Given the description of an element on the screen output the (x, y) to click on. 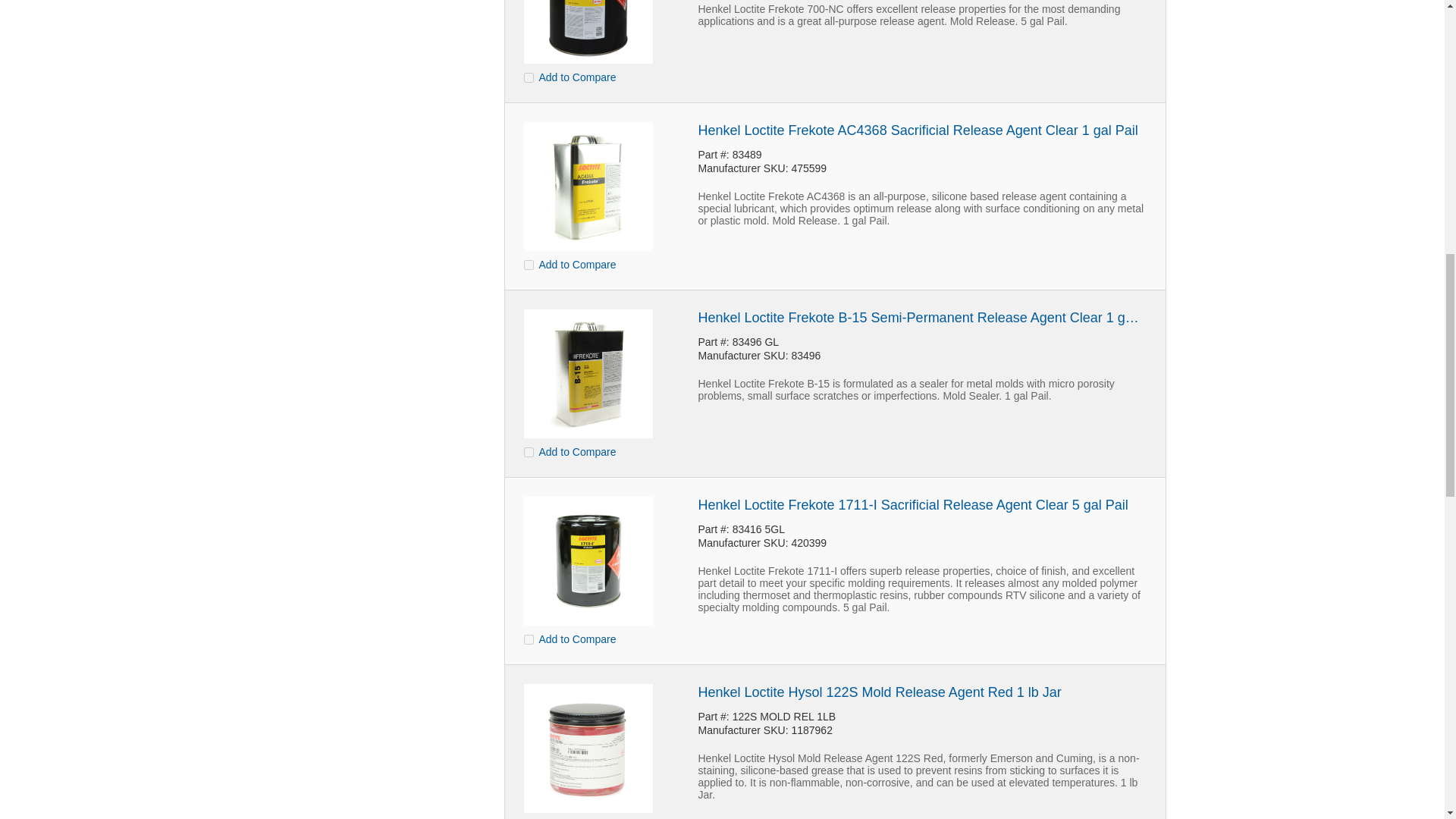
on (527, 638)
on (527, 77)
on (527, 452)
on (527, 264)
